Given the description of an element on the screen output the (x, y) to click on. 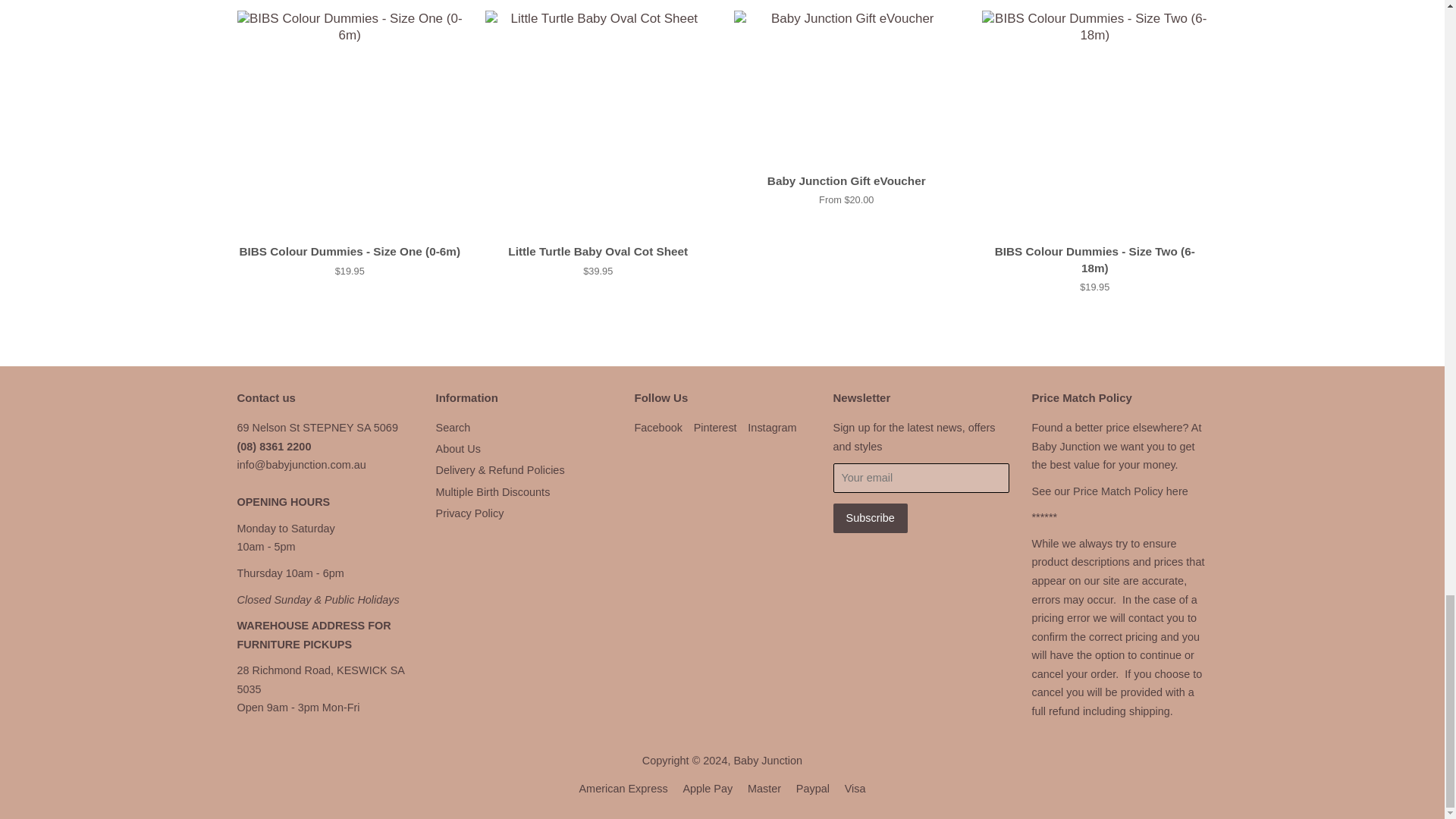
Privacy Policy (469, 512)
Price Match Policy (1130, 491)
Facebook (657, 427)
Pinterest (715, 427)
Baby Junction on Facebook (657, 427)
Instagram (772, 427)
Subscribe (869, 518)
Search (452, 427)
Subscribe (869, 518)
Baby Junction on Instagram (772, 427)
Baby Junction on Pinterest (715, 427)
Price Match Policy here (1130, 491)
Multiple Birth Discounts (492, 491)
About Us (457, 449)
